Given the description of an element on the screen output the (x, y) to click on. 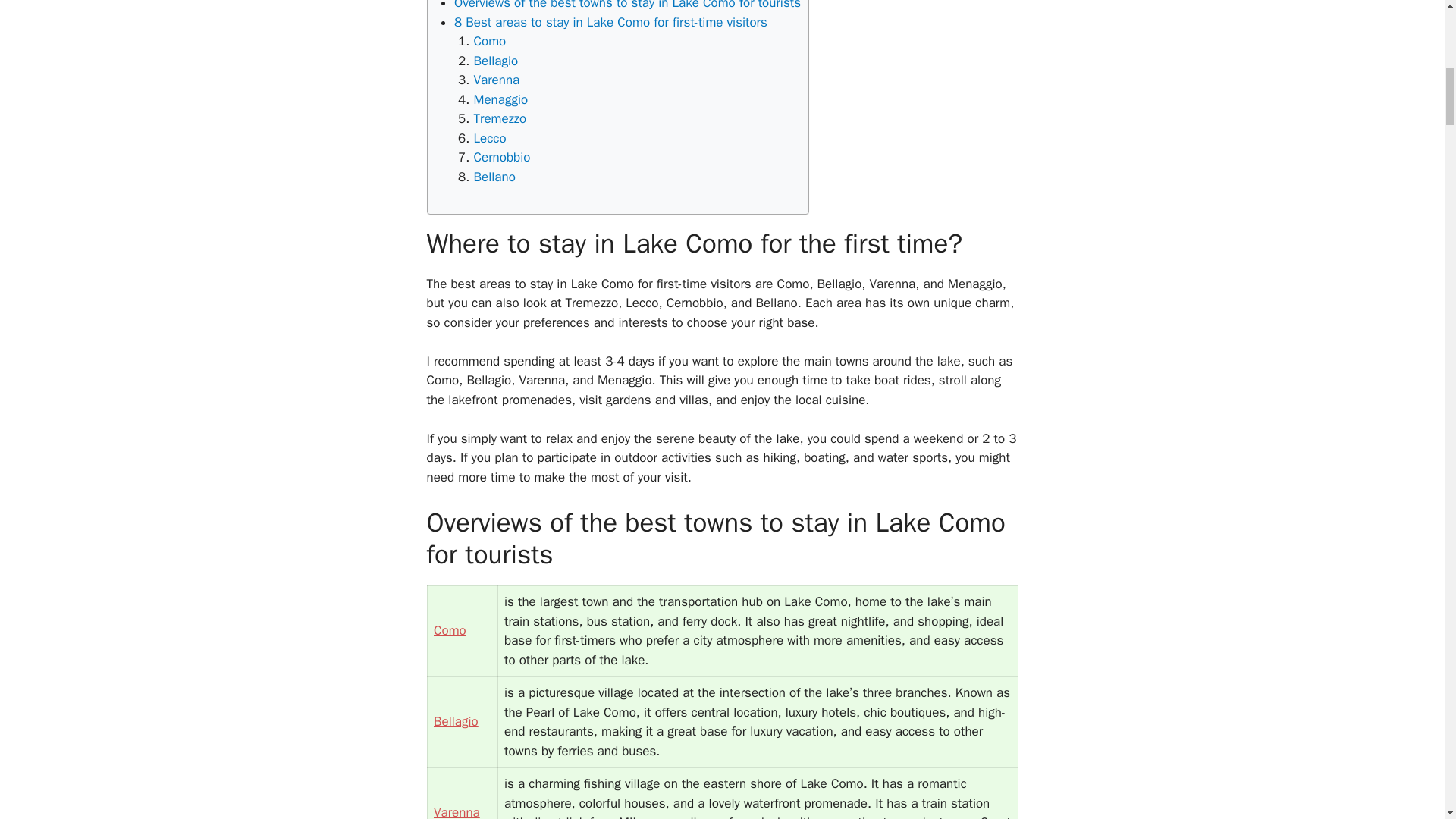
Bellano (494, 176)
Lecco (489, 138)
Bellagio (456, 721)
Como (449, 630)
Varenna (456, 811)
Tremezzo (499, 118)
8 Best areas to stay in Lake Como for first-time visitors (610, 22)
Como (489, 41)
Cernobbio (501, 157)
Bellagio (495, 60)
Varenna (496, 79)
Menaggio (500, 99)
